Given the description of an element on the screen output the (x, y) to click on. 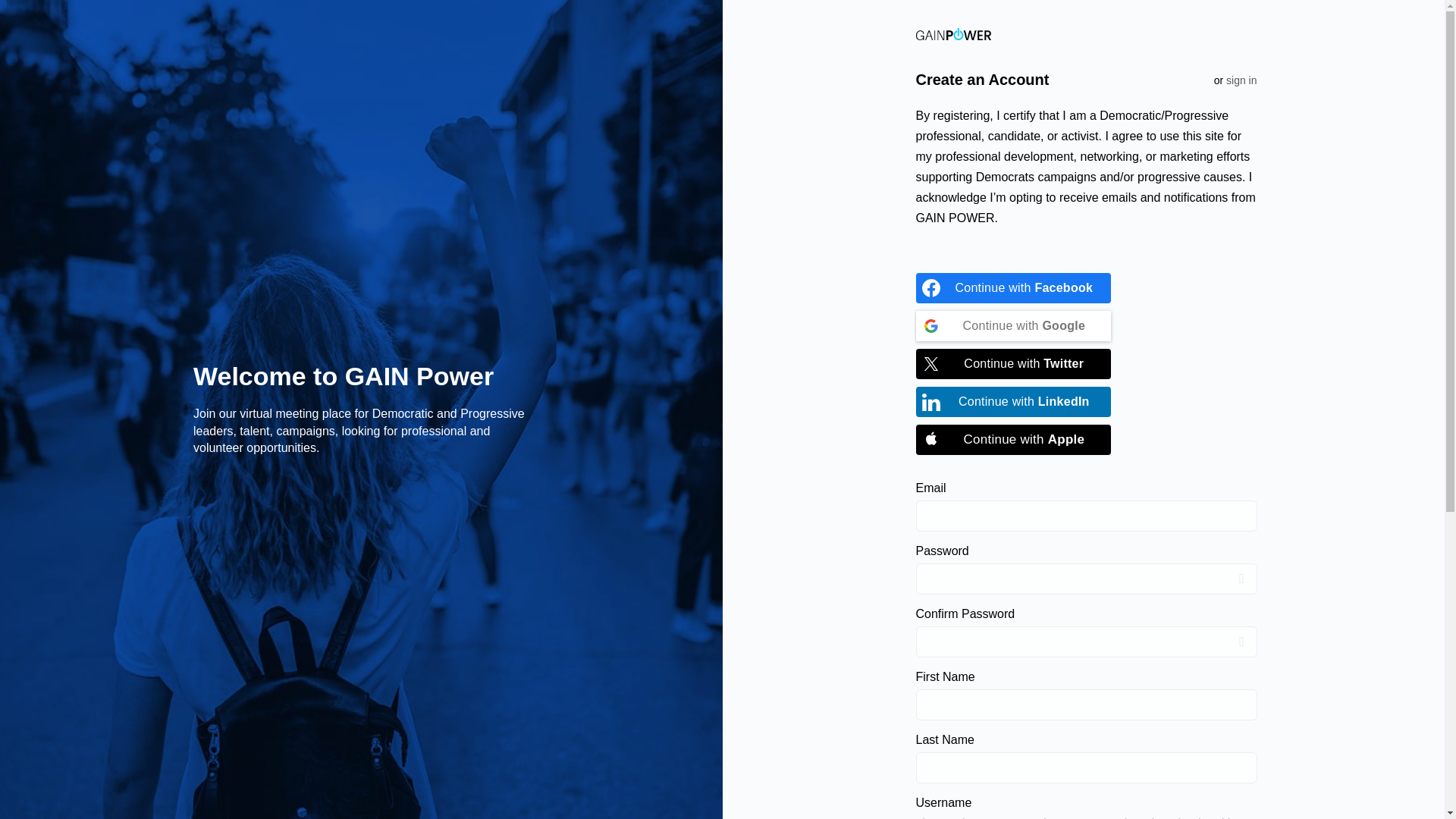
Continue with Google (1013, 326)
Continue with Apple (1013, 440)
sign in (1240, 80)
Continue with LinkedIn (1013, 401)
Continue with Facebook (1013, 287)
Continue with Twitter (1013, 363)
